Given the description of an element on the screen output the (x, y) to click on. 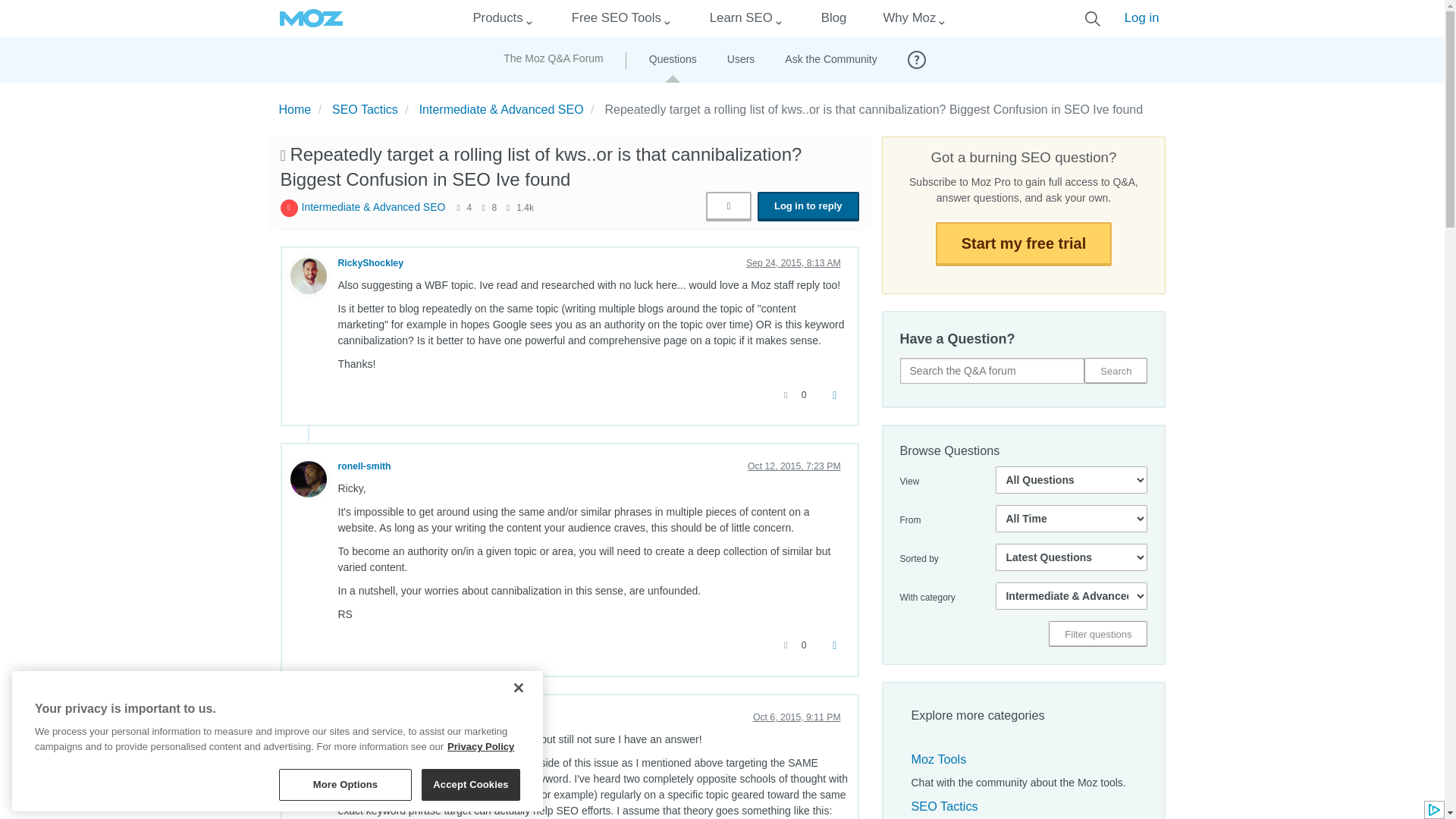
Moz logo (311, 18)
Moz logo (311, 18)
Moz Home (311, 18)
Filter questions (1097, 633)
Search (1115, 370)
Products (496, 18)
